Given the description of an element on the screen output the (x, y) to click on. 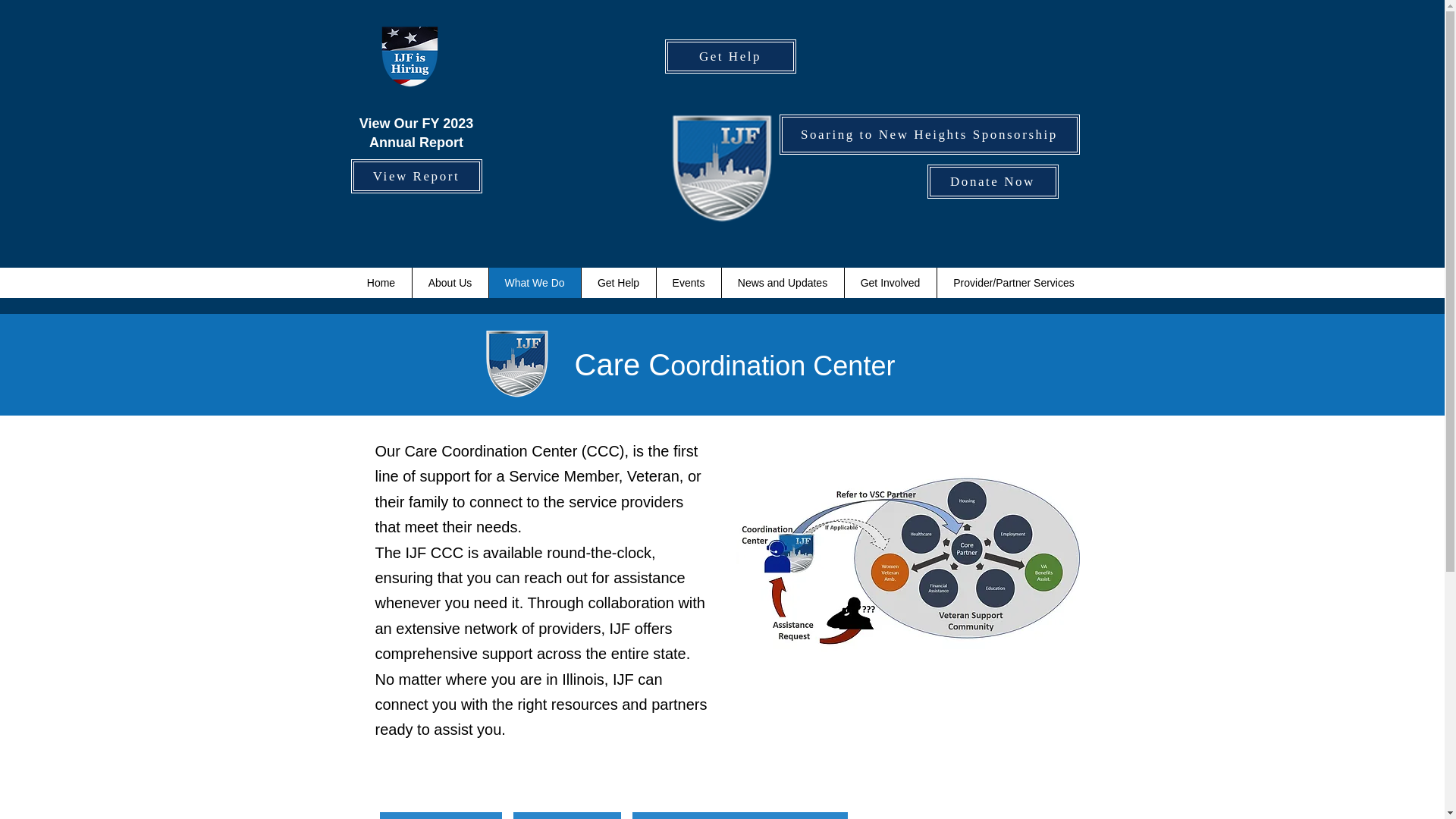
Get Help (618, 282)
Donate Now (992, 181)
Events (687, 282)
Home (380, 282)
About Us (448, 282)
Assistance Request Form (739, 815)
833-INFO-IJF (439, 815)
What We Do (533, 282)
Soaring to New Heights Sponsorship (929, 134)
Get Involved (889, 282)
News and Updates (781, 282)
Get Help (728, 56)
Email (566, 815)
View Report (415, 175)
IJF.png (720, 167)
